Given the description of an element on the screen output the (x, y) to click on. 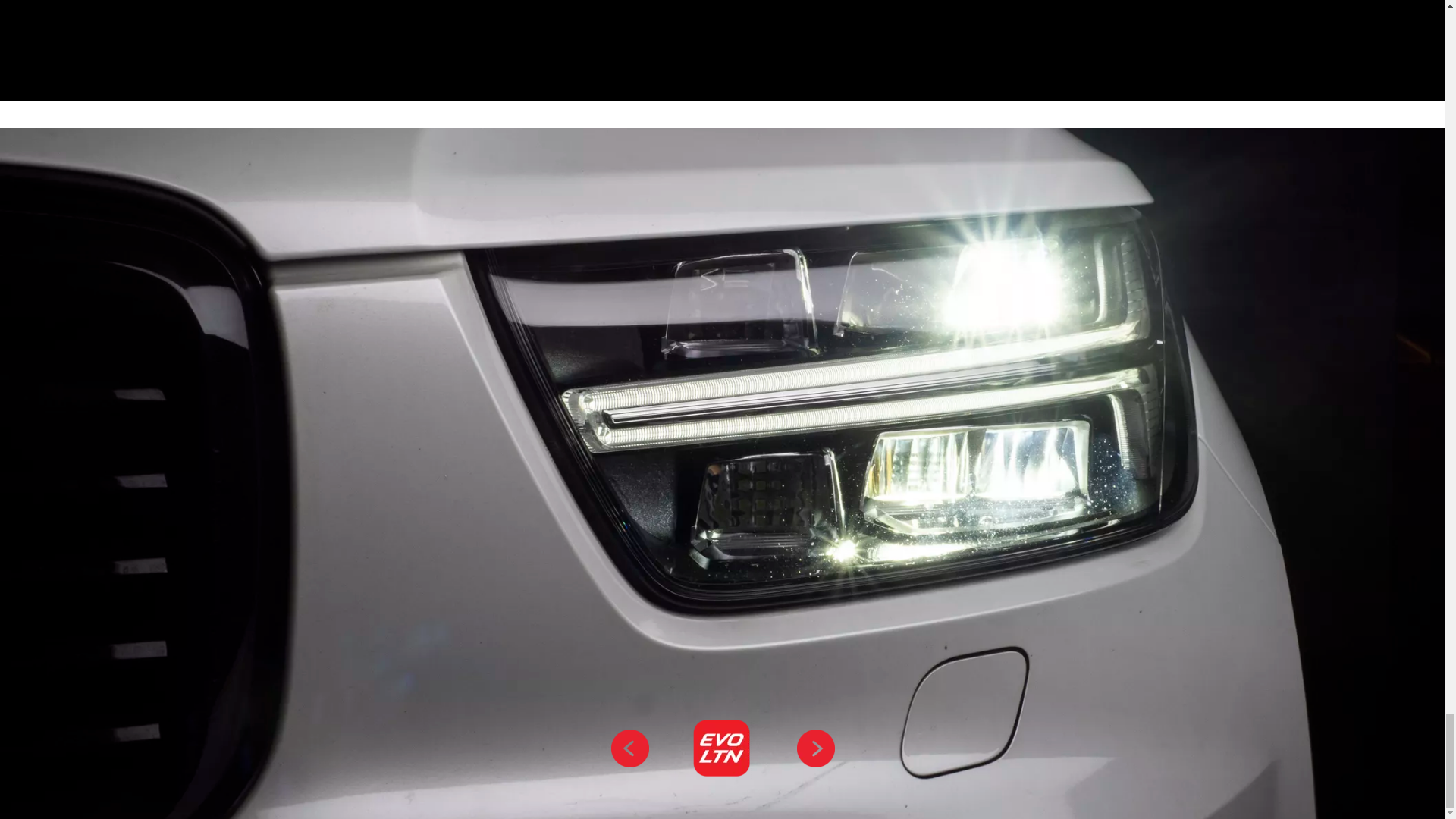
YouTube video player (516, 50)
YouTube video player (928, 50)
